Given the description of an element on the screen output the (x, y) to click on. 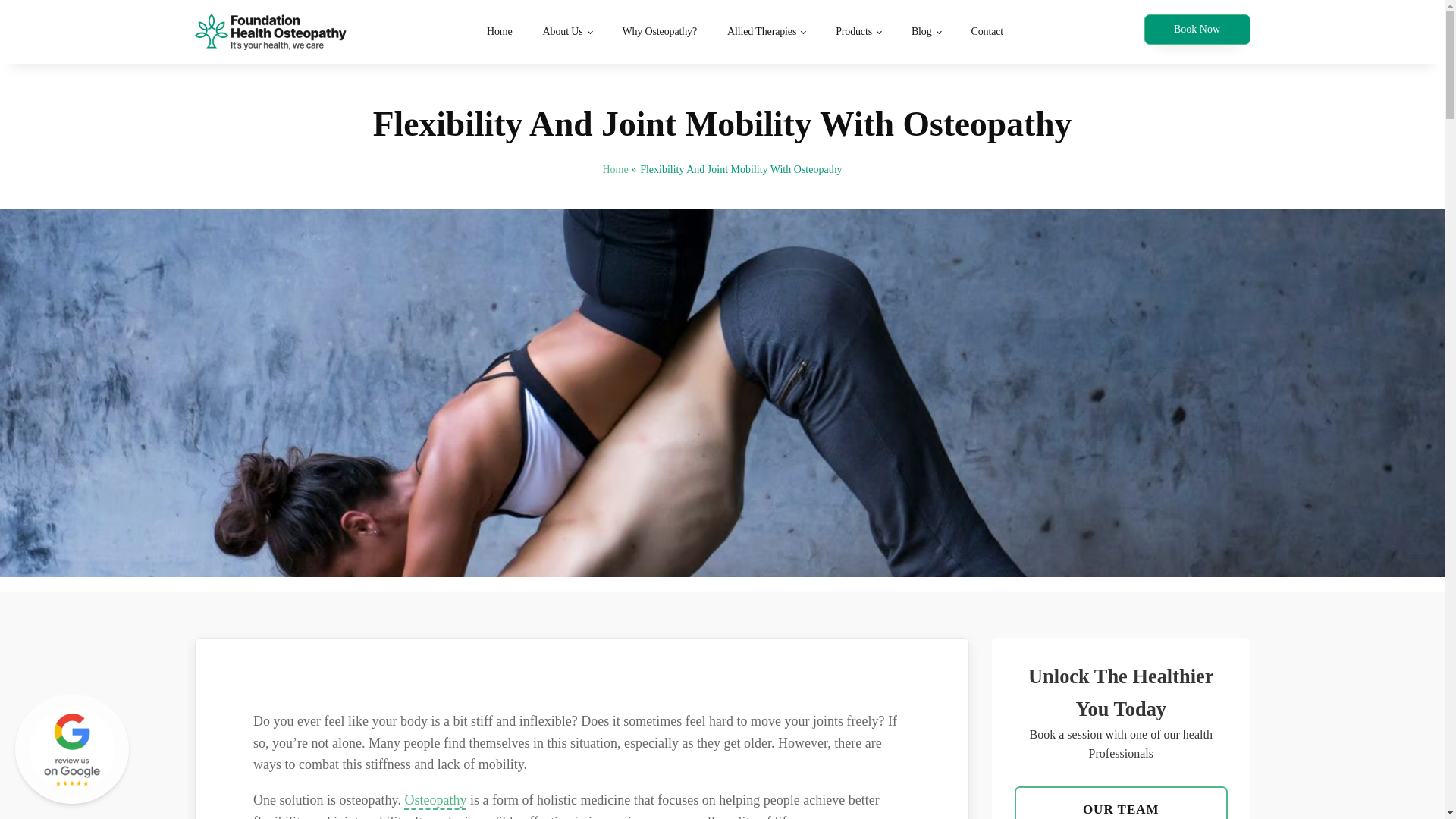
Products (858, 31)
Home (499, 31)
OUR TEAM (1120, 802)
Blog (926, 31)
Allied Therapies (766, 31)
Osteopathy (434, 800)
Contact (986, 31)
Why Osteopathy? (659, 31)
About Us (567, 31)
Book Now (1195, 29)
Breadcrumb link to Home (614, 169)
Home (614, 169)
